Given the description of an element on the screen output the (x, y) to click on. 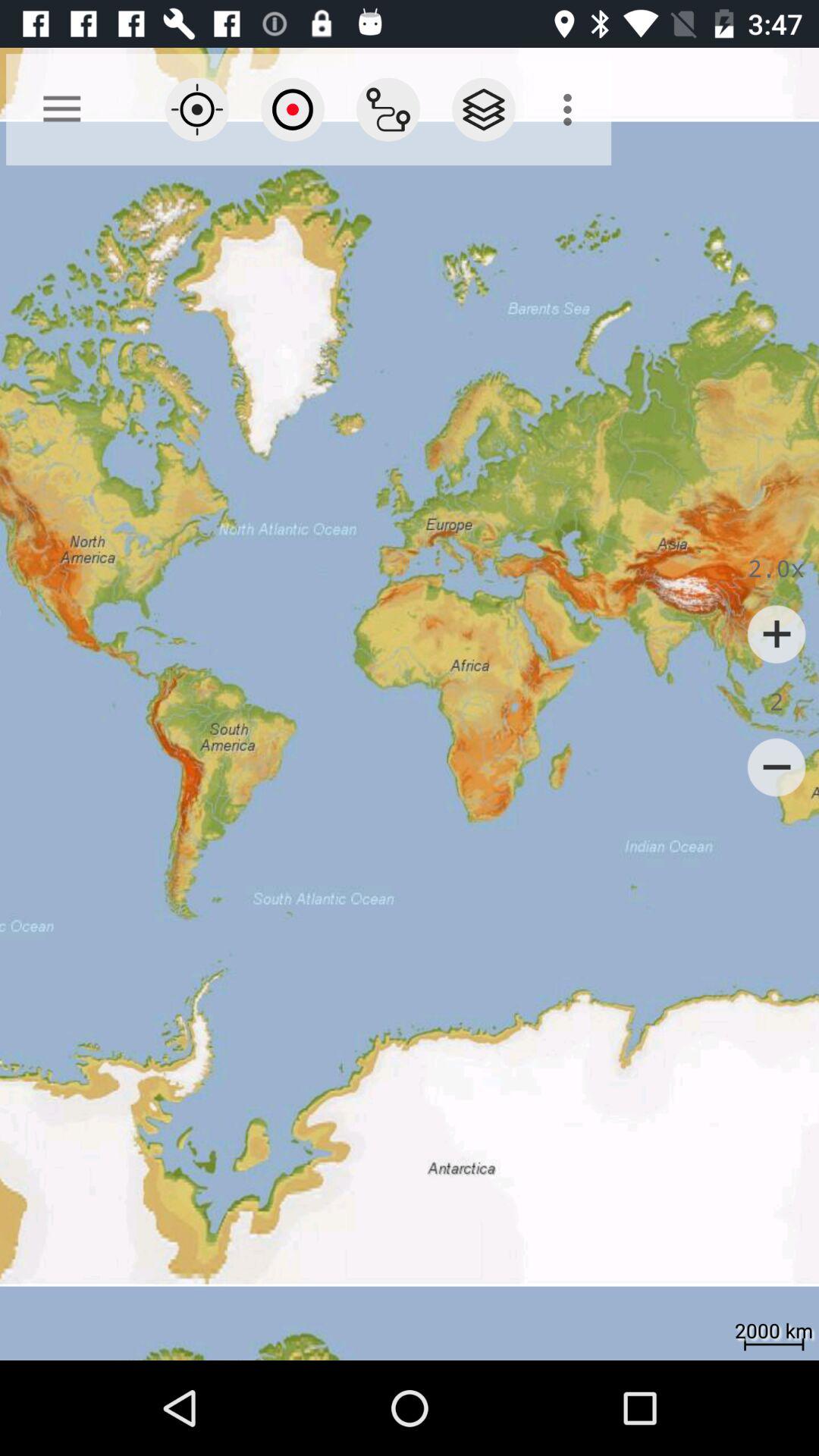
select icon below the 2.0x (776, 634)
